Given the description of an element on the screen output the (x, y) to click on. 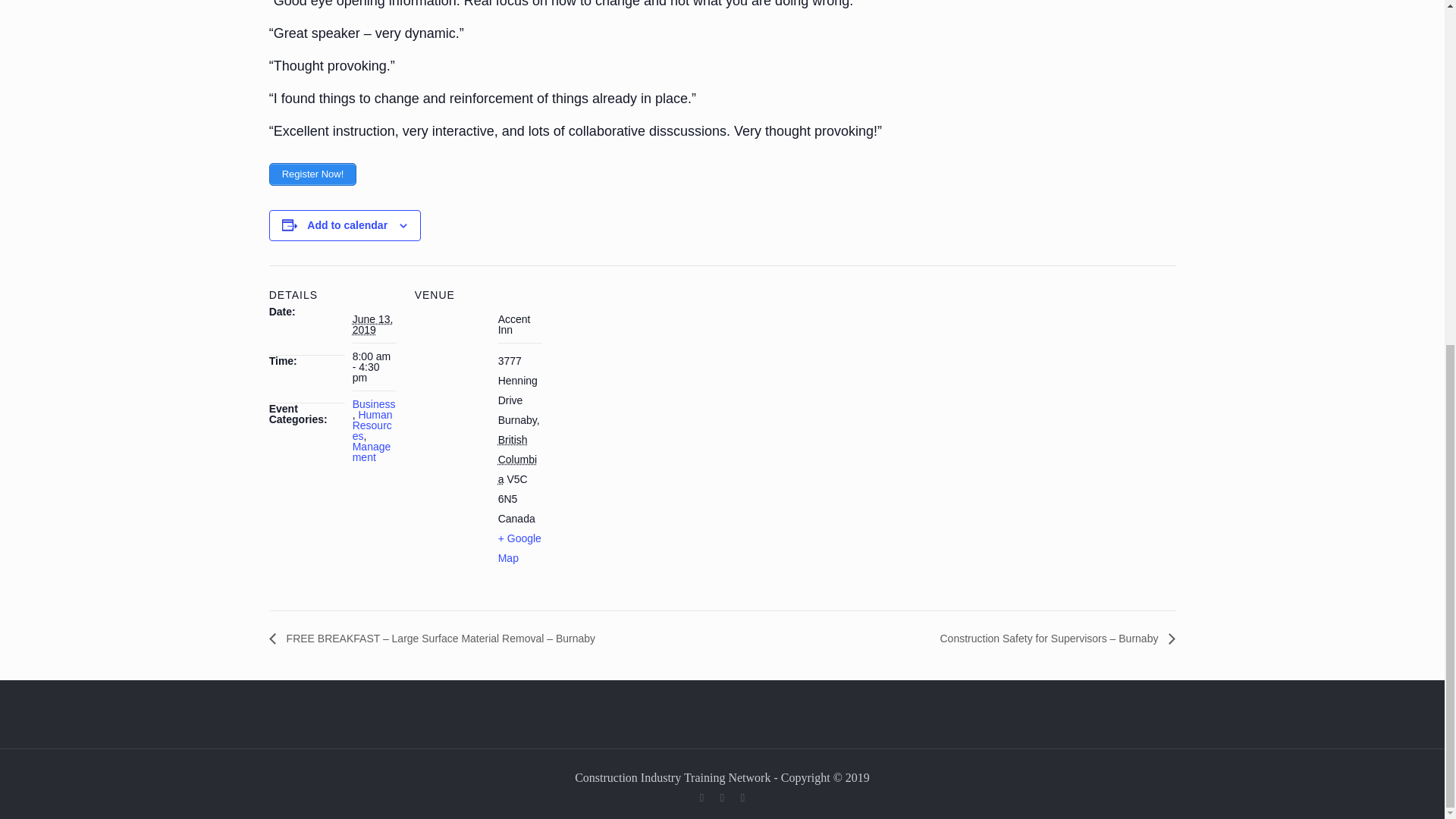
Register Now! (312, 173)
Click to view a Google Map (519, 548)
Twitter (722, 797)
2019-06-13 (374, 367)
Facebook (702, 797)
LinkedIn (743, 797)
Add to calendar (347, 224)
2019-06-13 (372, 323)
Human Resources (372, 425)
Business (374, 404)
